Given the description of an element on the screen output the (x, y) to click on. 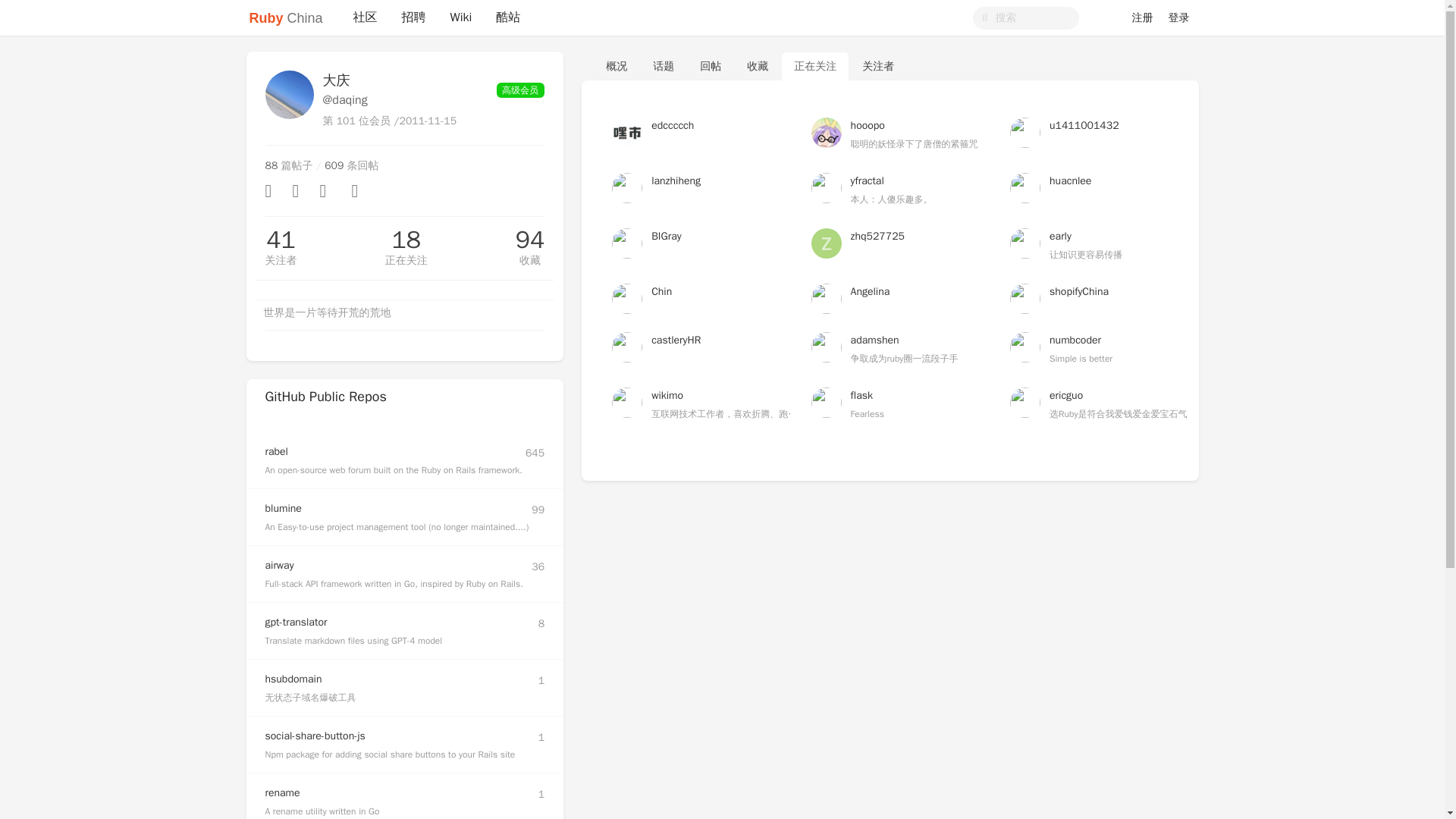
Ruby China (284, 17)
gpt-translator (295, 621)
airway (279, 564)
Wiki (461, 18)
41 (280, 240)
18 (406, 240)
hooopo (867, 124)
hsubdomain (292, 678)
social-share-button-js (314, 735)
edccccch (672, 124)
rabel (276, 451)
Since (427, 120)
blumine (282, 508)
645 Watchers (534, 453)
94 (529, 240)
